Given the description of an element on the screen output the (x, y) to click on. 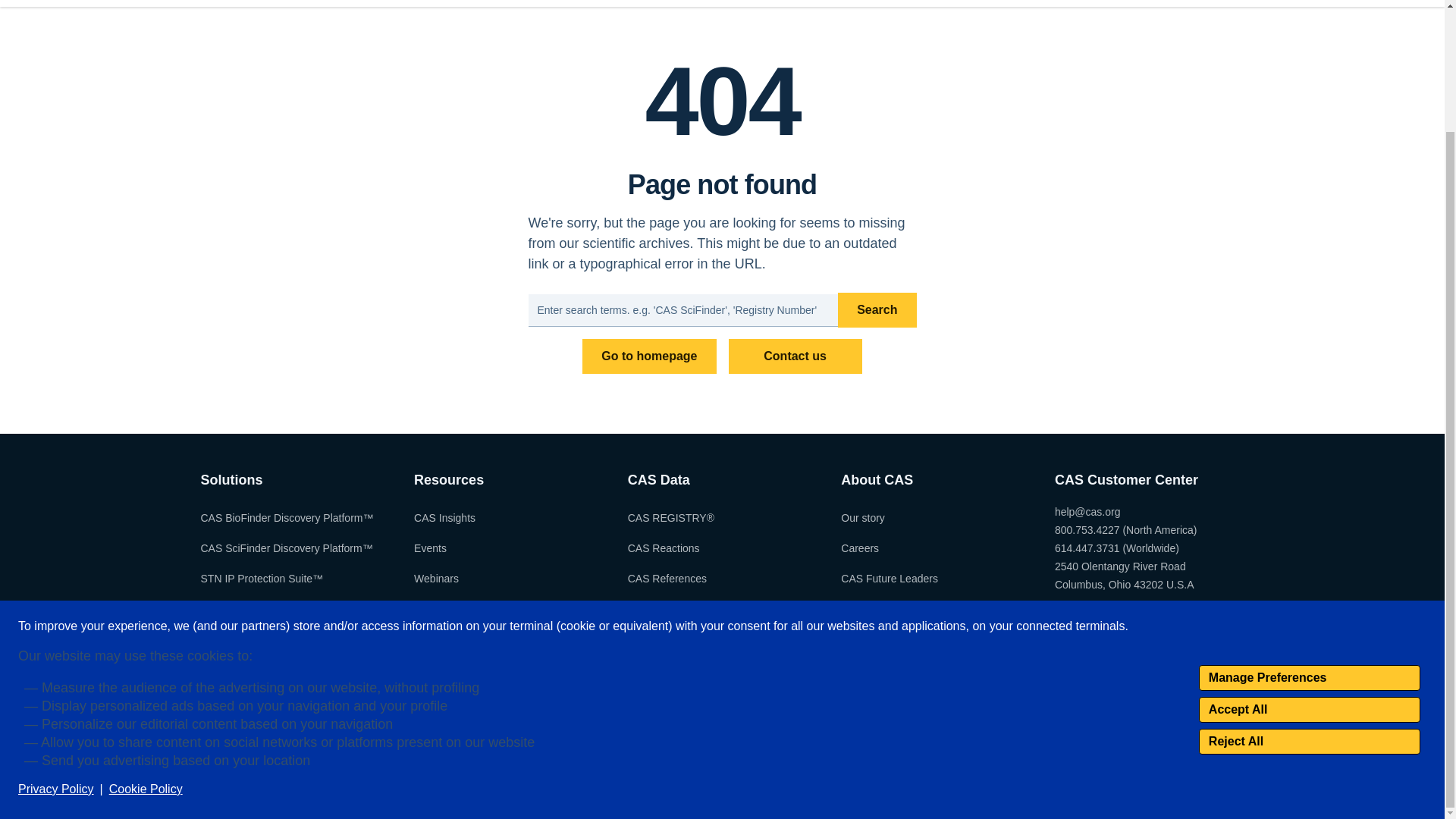
Reject All (1309, 595)
Cookie Policy (146, 643)
Search (876, 309)
Privacy Policy (55, 643)
Accept All (1309, 563)
Search (876, 309)
Manage Preferences (1309, 531)
